Given the description of an element on the screen output the (x, y) to click on. 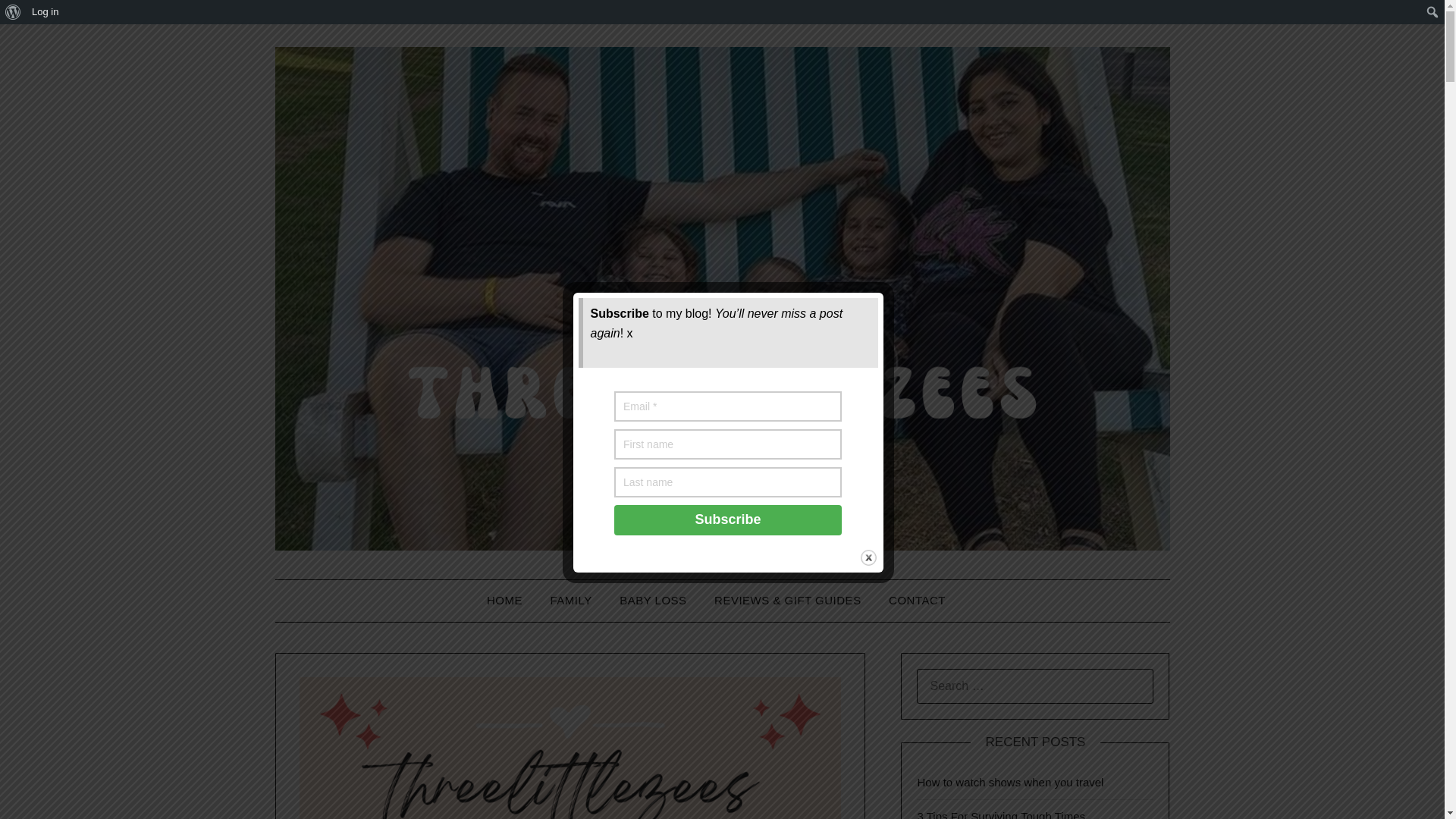
FAMILY (570, 599)
BABY LOSS (652, 599)
HOME (510, 599)
CONTACT (917, 599)
Subscribe (727, 520)
